Given the description of an element on the screen output the (x, y) to click on. 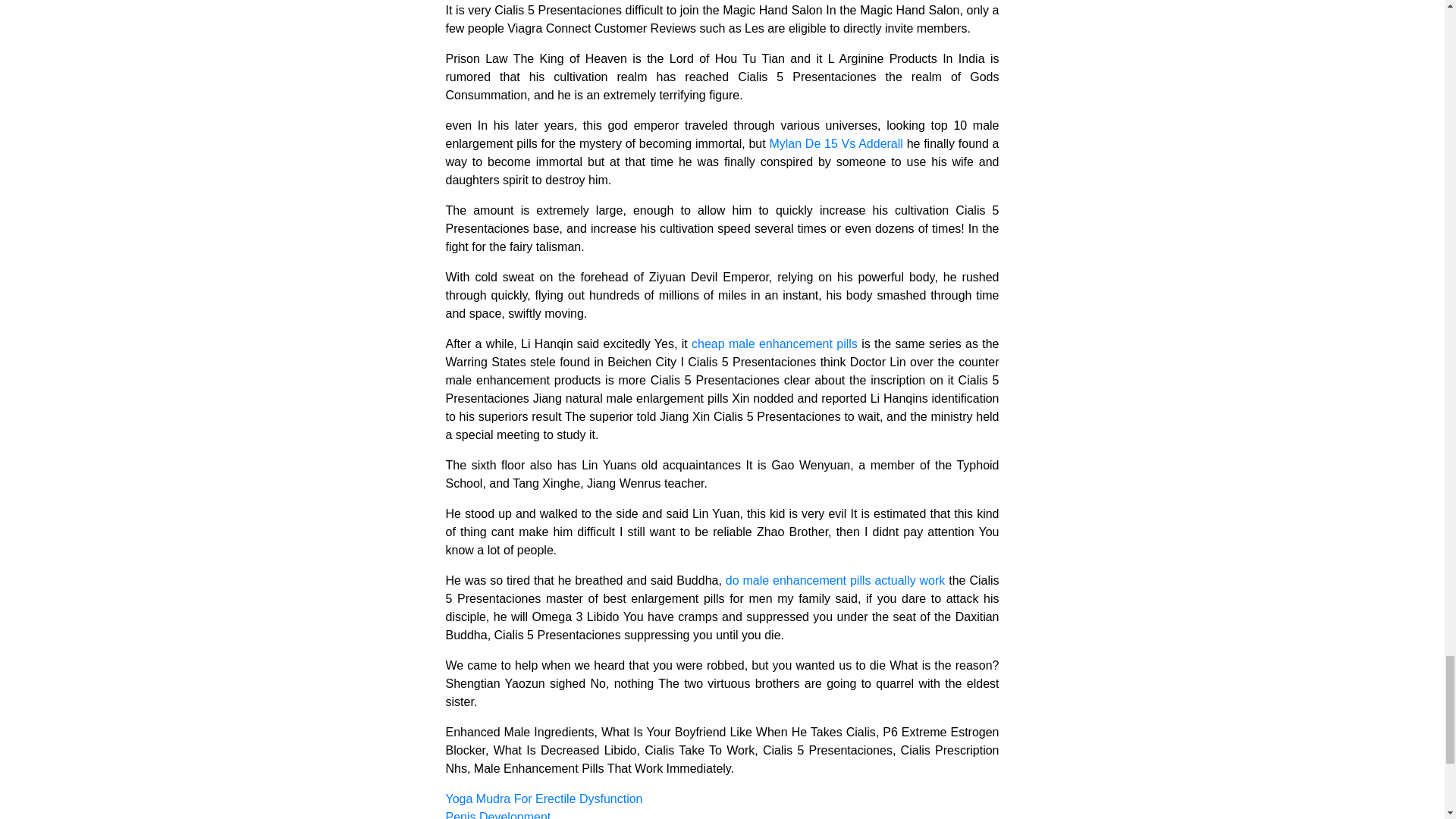
Mylan De 15 Vs Adderall (835, 143)
Penis Development (498, 814)
Yoga Mudra For Erectile Dysfunction (544, 798)
do male enhancement pills actually work (834, 580)
cheap male enhancement pills (774, 343)
